Given the description of an element on the screen output the (x, y) to click on. 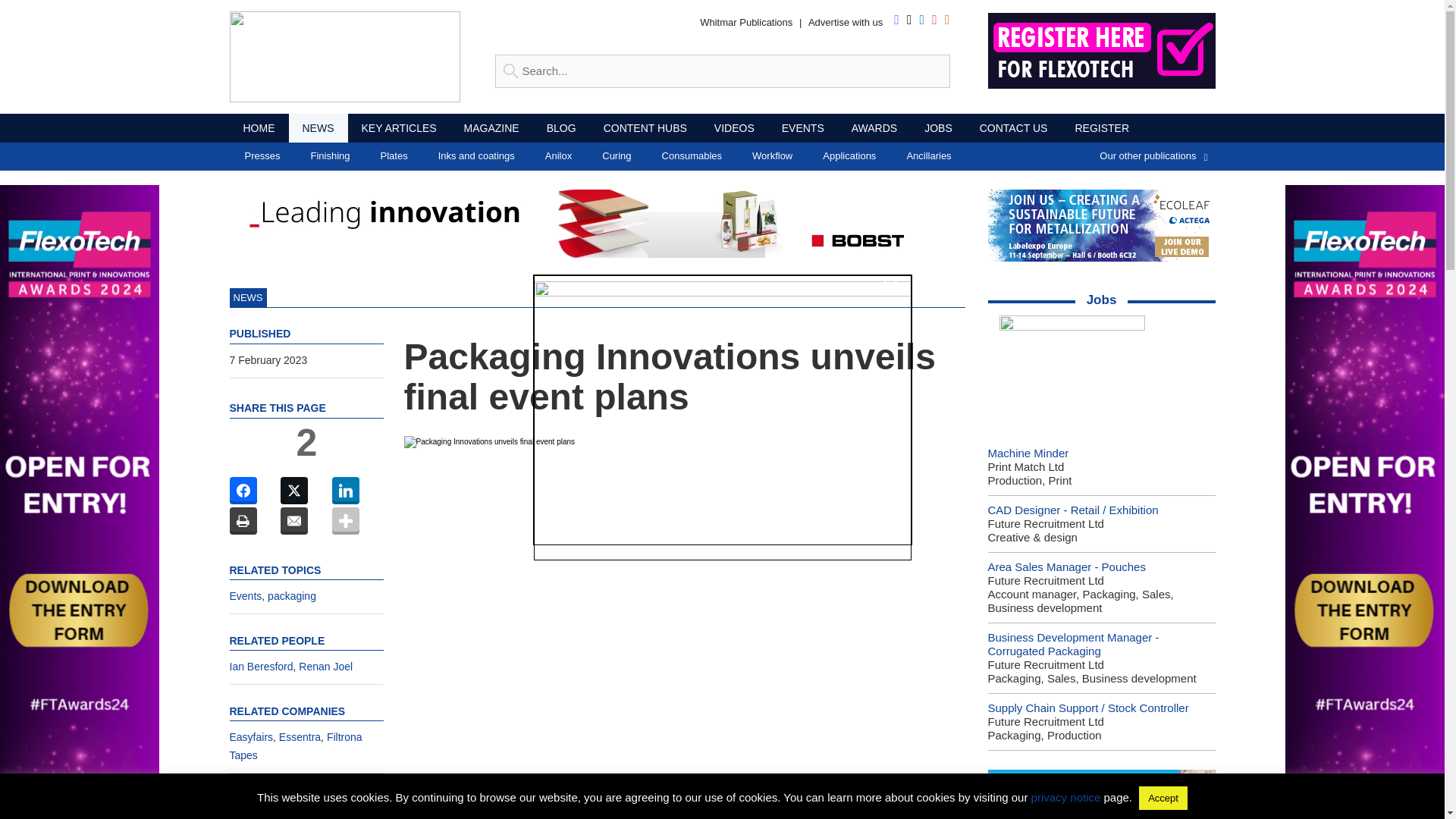
Applications (849, 156)
JOBS (938, 127)
CONTACT US (1013, 127)
REGISTER (1101, 127)
CONTENT HUBS (644, 127)
Whitmar Publications (746, 21)
Plates (394, 156)
Presses (261, 156)
NEWS (317, 127)
VIDEOS (734, 127)
MAGAZINE (490, 127)
Share on LinkedIn (345, 490)
Ancillaries (928, 156)
Finishing (330, 156)
BLOG (560, 127)
